Given the description of an element on the screen output the (x, y) to click on. 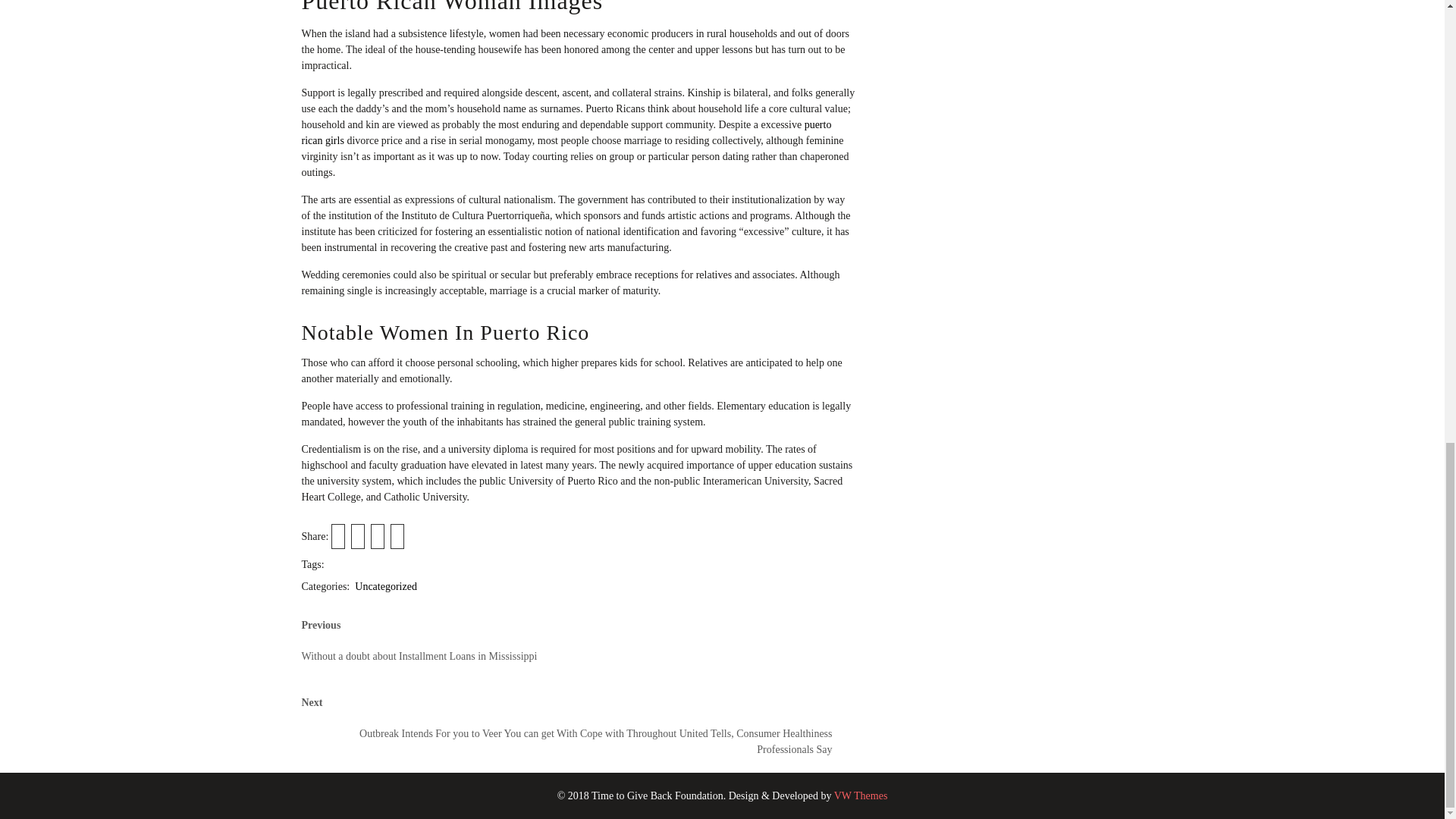
puerto rican girls (566, 132)
VW Themes (858, 795)
Uncategorized (385, 586)
